Given the description of an element on the screen output the (x, y) to click on. 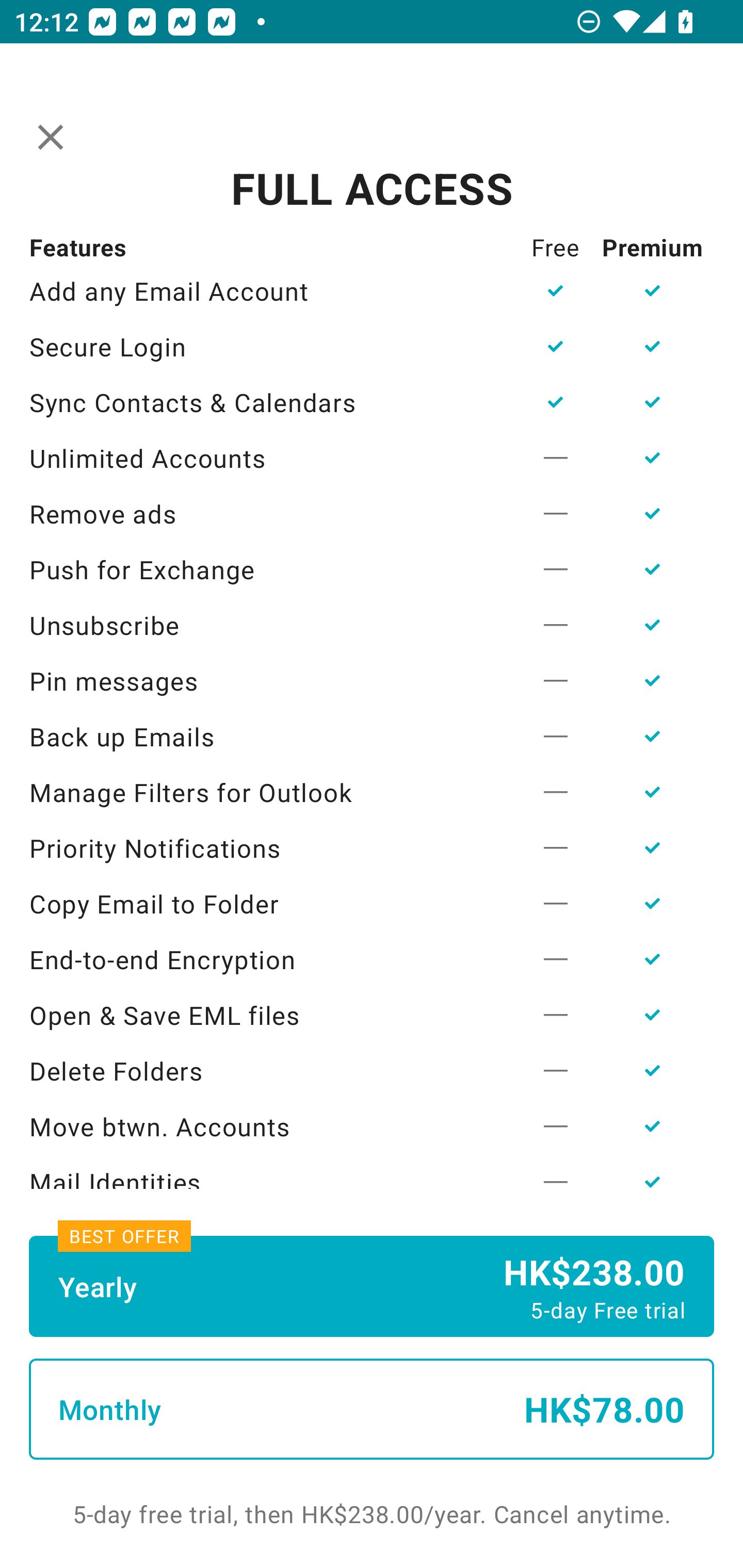
Yearly HK$238.00 5-day Free trial (371, 1286)
Monthly HK$78.00 (371, 1408)
